Given the description of an element on the screen output the (x, y) to click on. 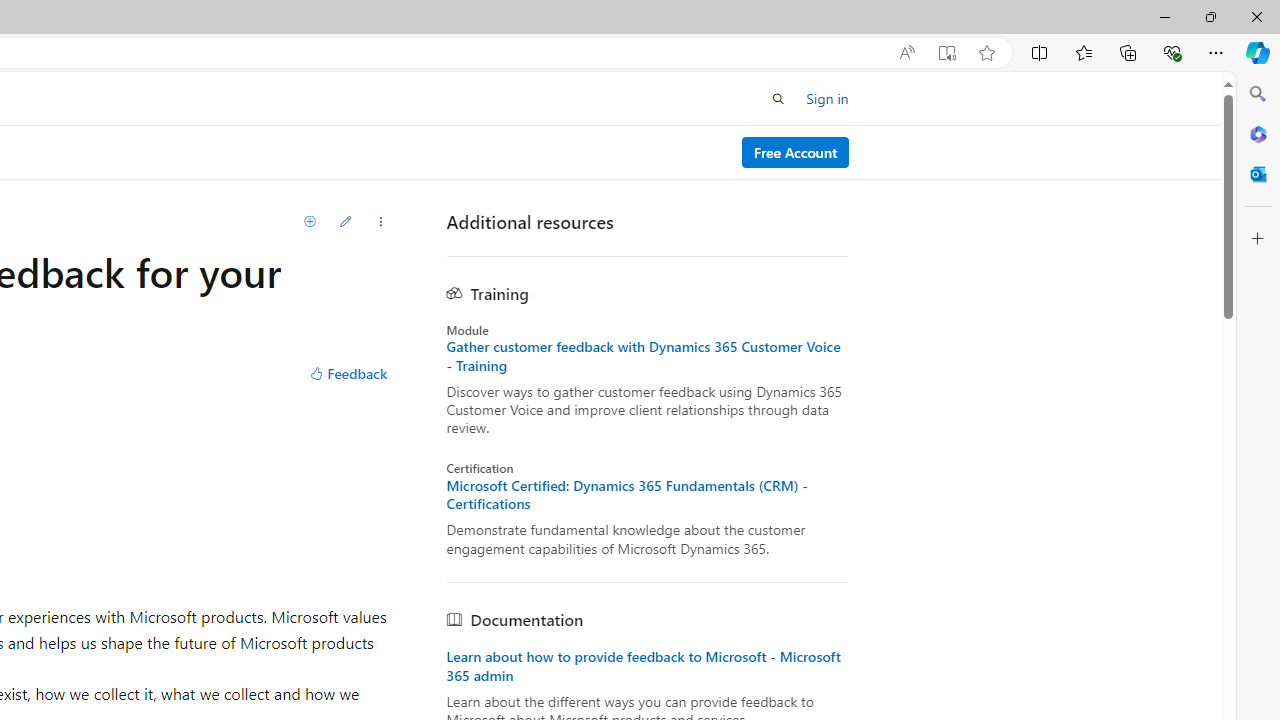
Add this page to favorites (Ctrl+D) (986, 53)
Outlook (1258, 174)
Restore (1210, 16)
Favorites (1083, 52)
Edit (345, 221)
Customize (1258, 239)
Feedback (348, 373)
Enter Immersive Reader (F9) (946, 53)
Copilot (Ctrl+Shift+.) (1258, 52)
